Given the description of an element on the screen output the (x, y) to click on. 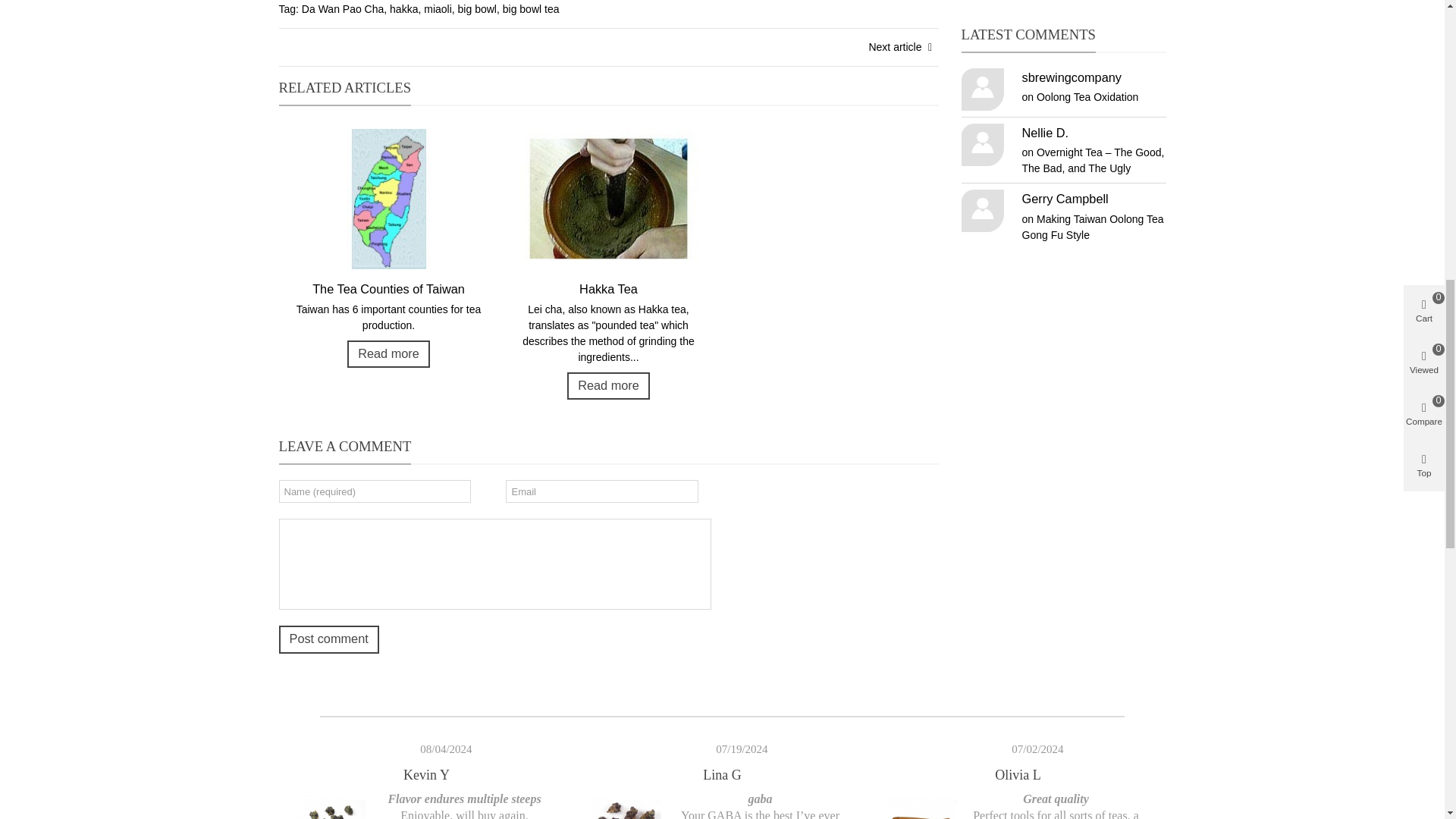
Da Wan Pao Cha (342, 9)
Post comment (328, 638)
big bowl tea (530, 9)
The Tea Counties of Taiwan (389, 289)
miaoli (437, 9)
Read more (388, 353)
Next article (902, 47)
big bowl (477, 9)
hakka (403, 9)
